Given the description of an element on the screen output the (x, y) to click on. 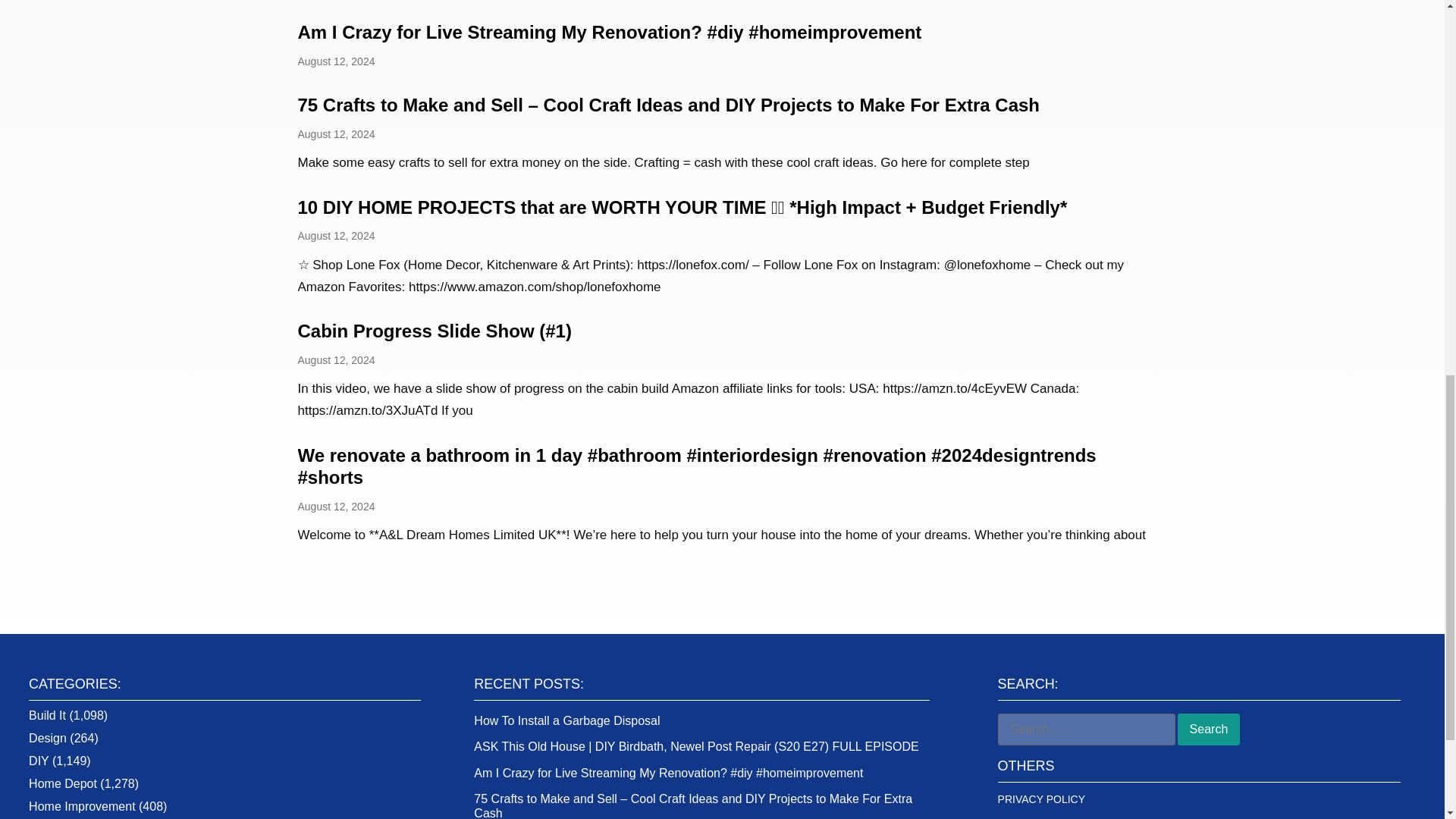
Design (47, 738)
How To Install a Garbage Disposal (566, 720)
Search (1208, 729)
Search (1208, 729)
Home Depot (63, 783)
Build It (47, 715)
Home Improvement (82, 806)
DIY (38, 760)
